Given the description of an element on the screen output the (x, y) to click on. 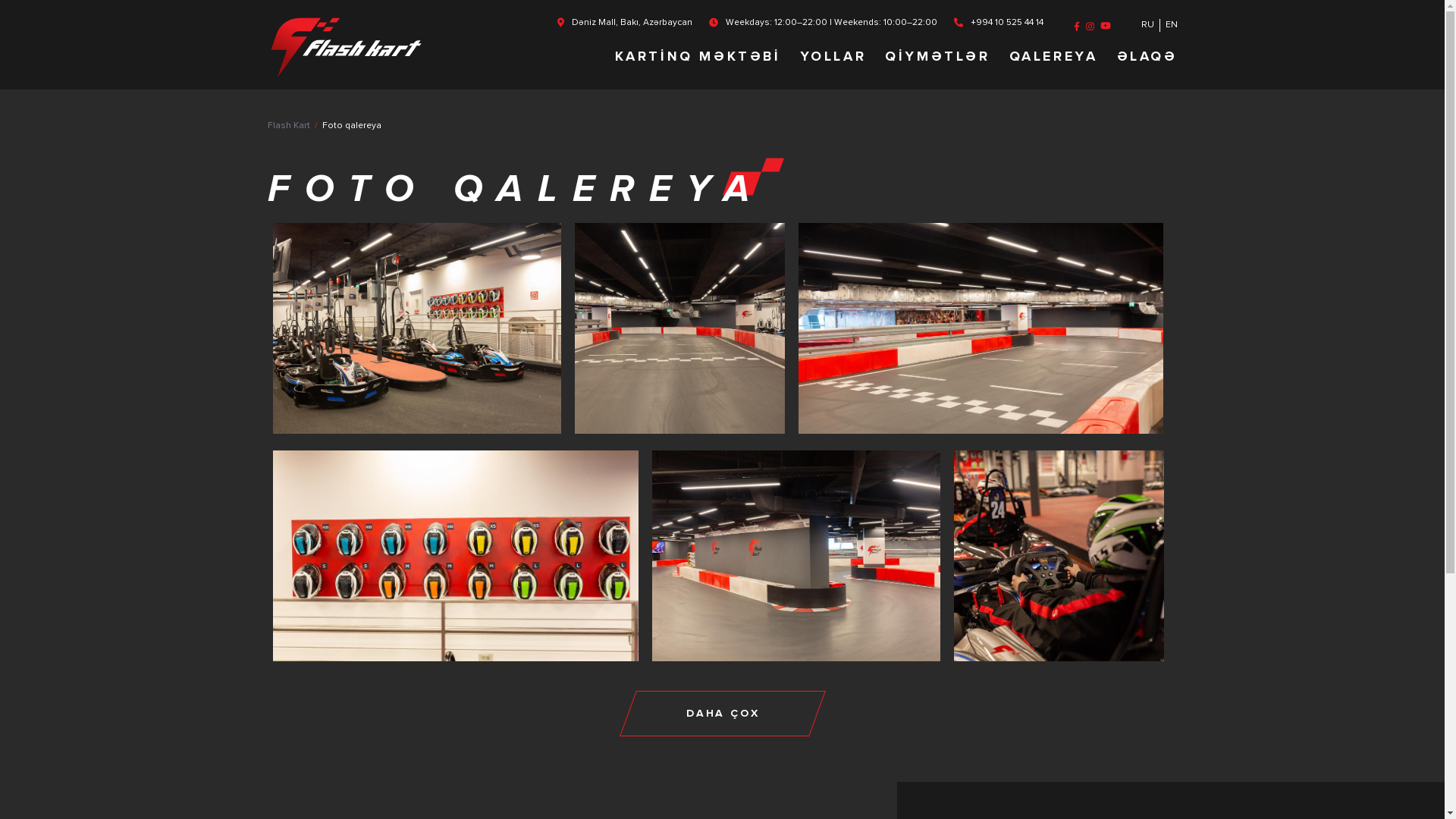
Foto qalereya Element type: text (350, 125)
EN Element type: text (1170, 24)
Flash Kart Element type: text (287, 125)
+994 10 525 44 14 Element type: text (1006, 22)
YOLLAR Element type: text (833, 60)
RU Element type: text (1149, 24)
QALEREYA Element type: text (1053, 60)
